Given the description of an element on the screen output the (x, y) to click on. 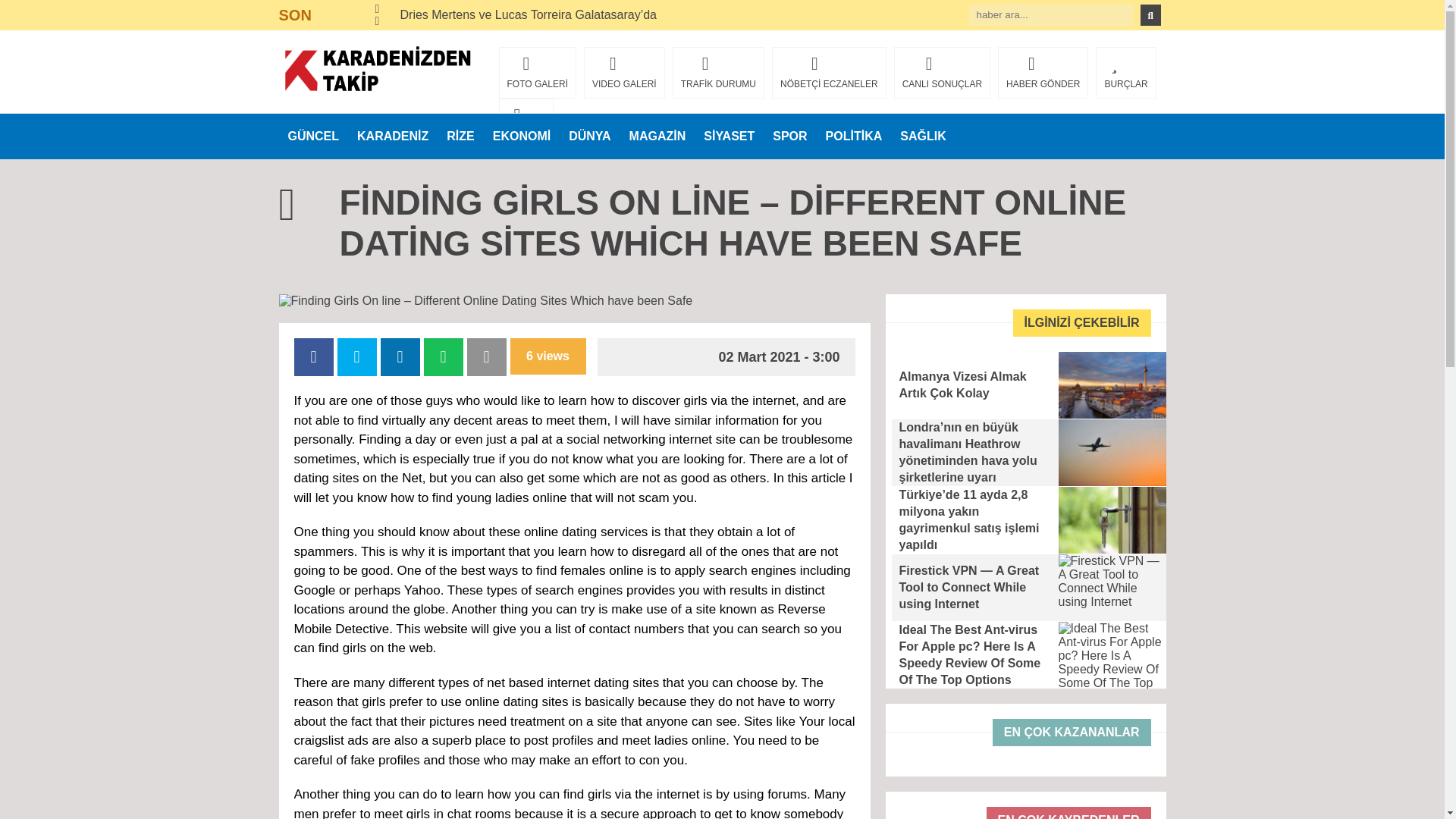
Karadenizden Takip (377, 70)
SPOR (788, 135)
